Given the description of an element on the screen output the (x, y) to click on. 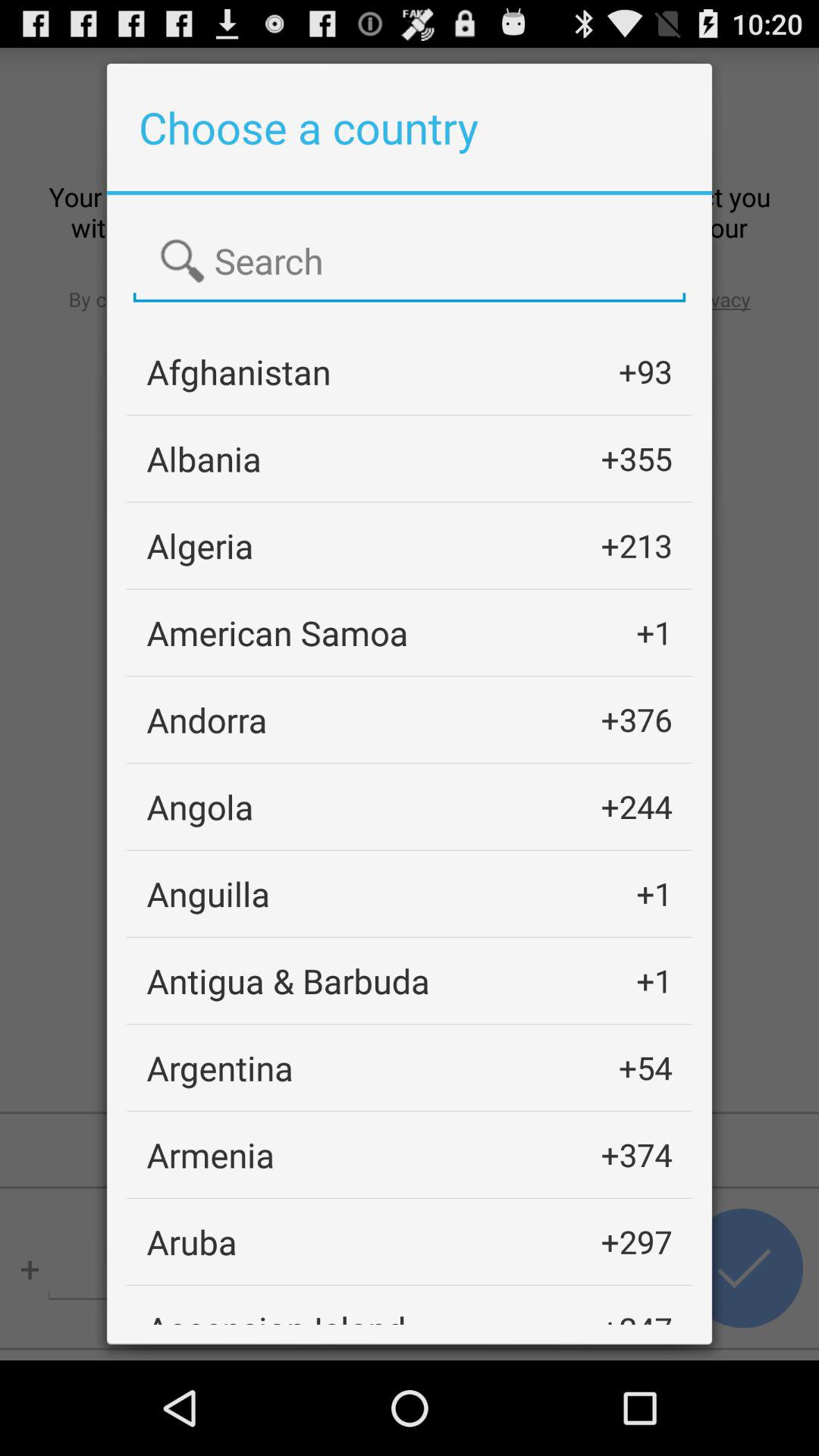
choose +54 item (645, 1067)
